Given the description of an element on the screen output the (x, y) to click on. 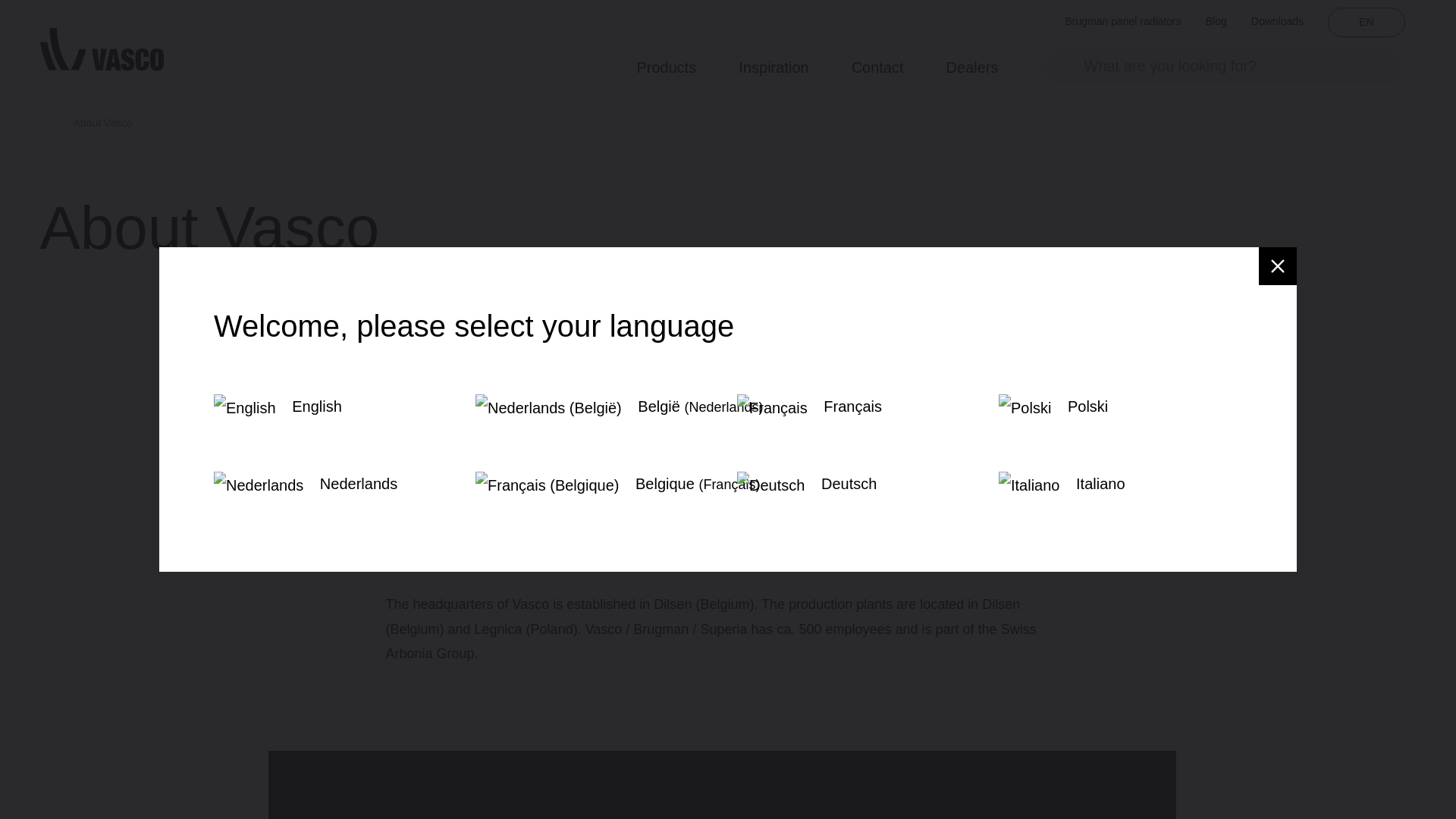
Close (1278, 266)
EN (1366, 21)
Brugman panel radiators (1122, 21)
Downloads (1276, 21)
Dealers (972, 65)
Inspiration (773, 65)
Blog (1216, 21)
Contact (877, 65)
Products (665, 65)
